Given the description of an element on the screen output the (x, y) to click on. 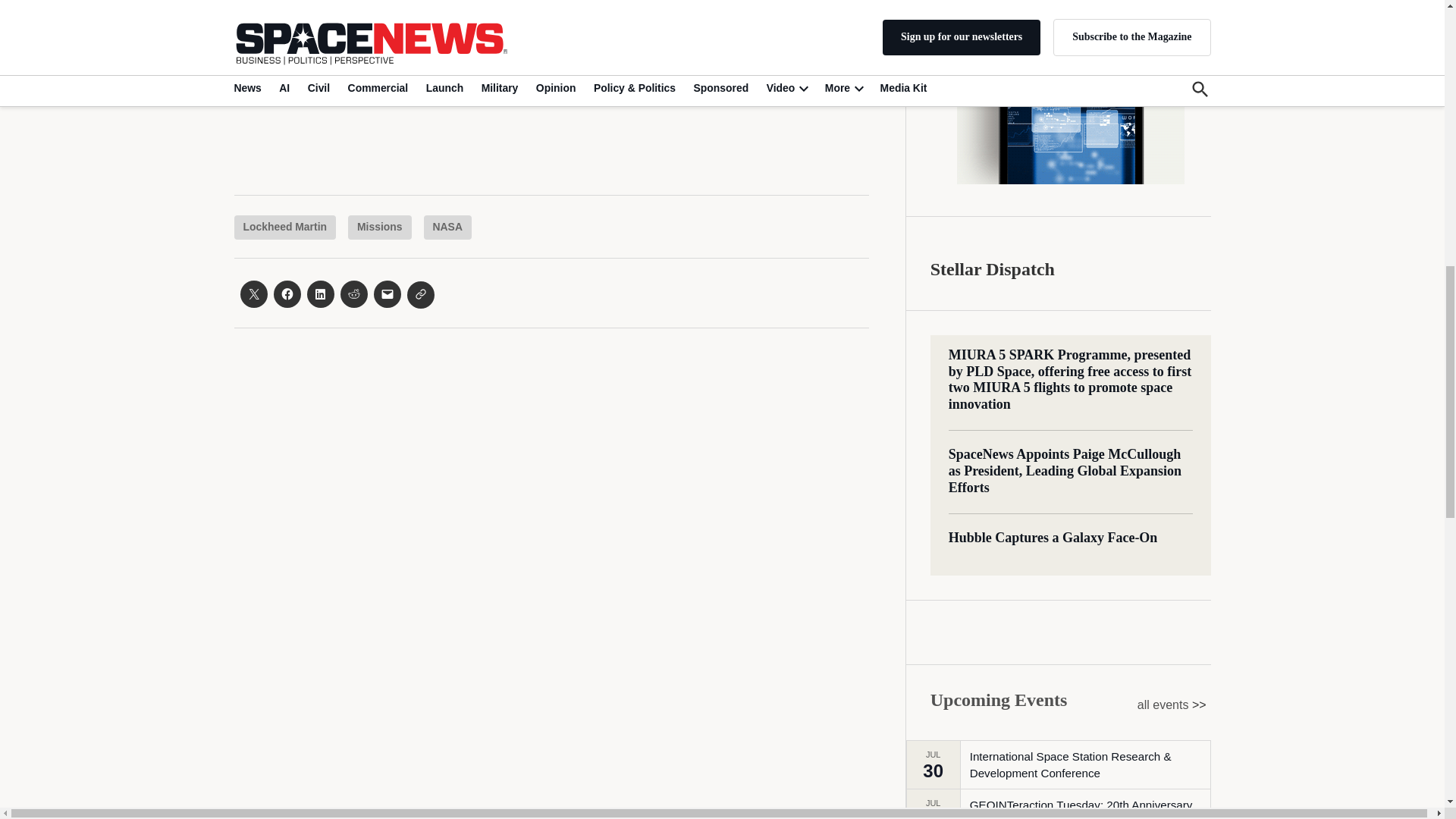
Click to share on Clipboard (419, 294)
Click to email a link to a friend (386, 293)
Click to share on LinkedIn (319, 293)
Click to share on Facebook (286, 293)
Click to share on X (253, 293)
Click to share on Reddit (352, 293)
